Given the description of an element on the screen output the (x, y) to click on. 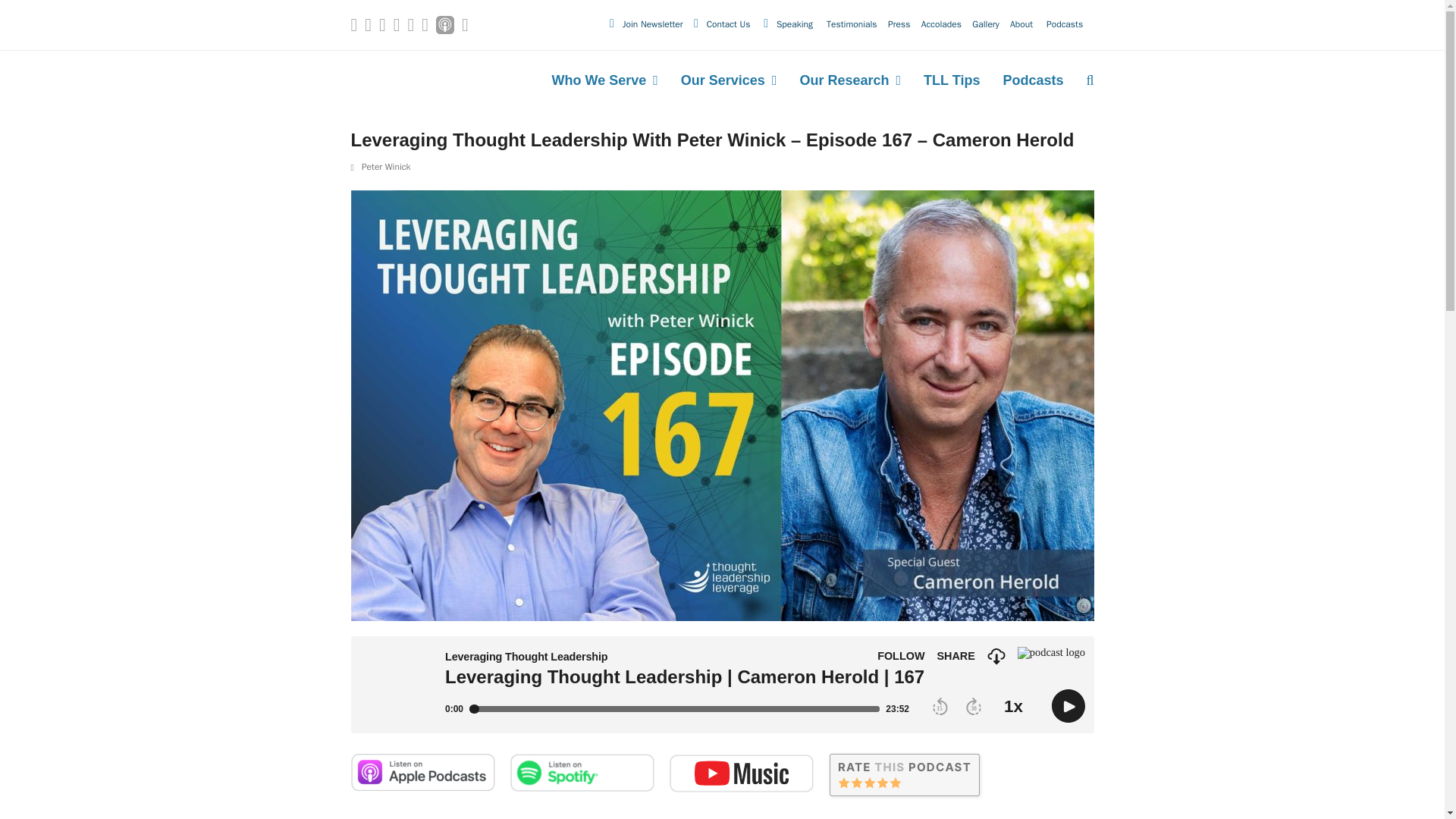
Speaking (794, 24)
Gallery (985, 24)
Apple Podcasts (444, 25)
Who We Serve (604, 81)
TLL Tips (951, 81)
Join Our Newsletter (652, 24)
Our Services (729, 81)
Testimonials (852, 24)
Gallery (985, 24)
Podcasts (1066, 24)
Contact Us (728, 24)
Podcasts (1066, 24)
Contact Us (728, 24)
About (1022, 24)
About (1022, 24)
